Given the description of an element on the screen output the (x, y) to click on. 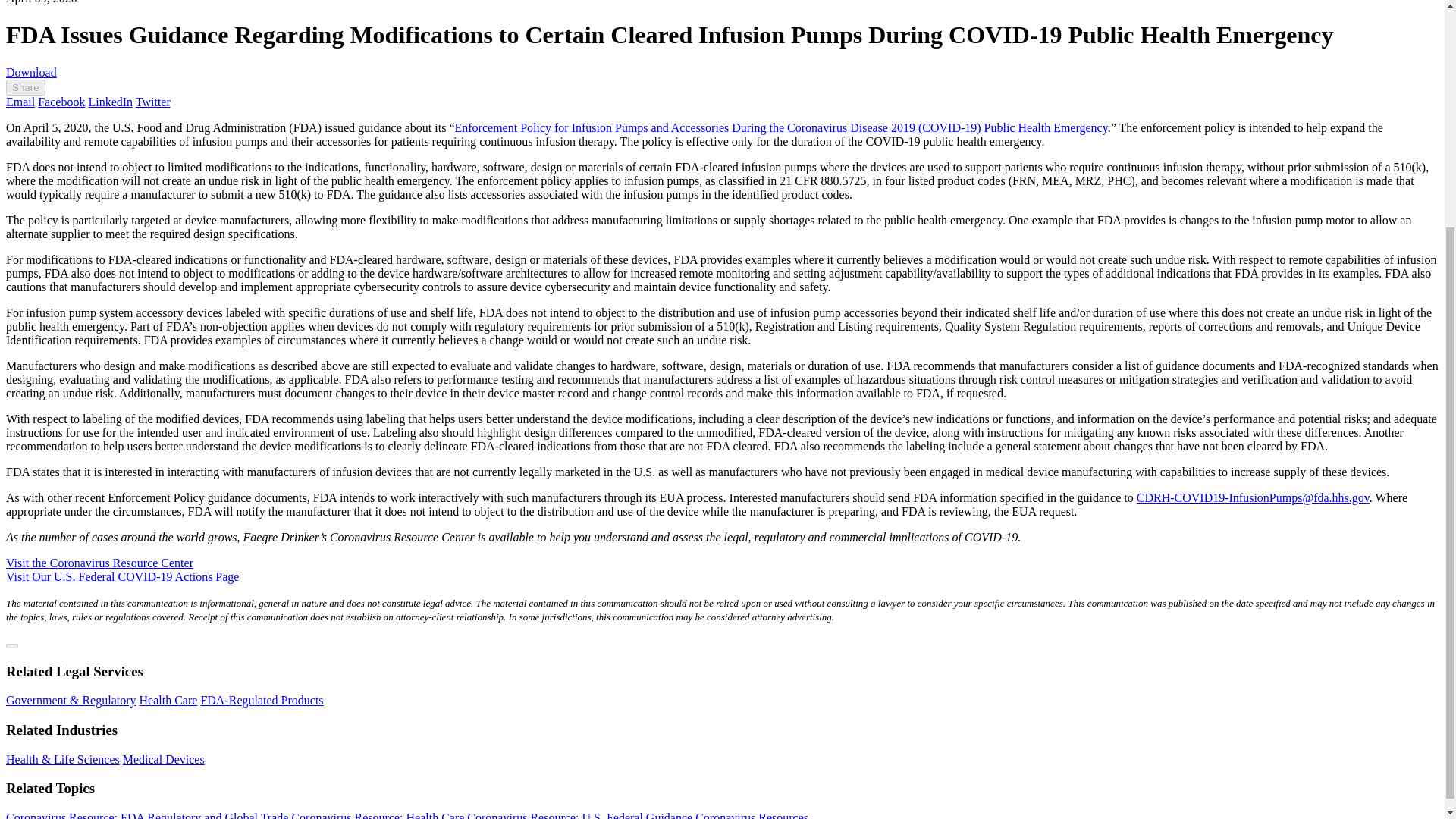
Share (25, 87)
Health Care (168, 699)
Facebook (60, 101)
Visit the Coronavirus Resource Center (99, 562)
Email (19, 101)
Visit Our U.S. Federal COVID-19 Actions Page (121, 576)
Twitter (152, 101)
LinkedIn (109, 101)
Download (30, 72)
